Given the description of an element on the screen output the (x, y) to click on. 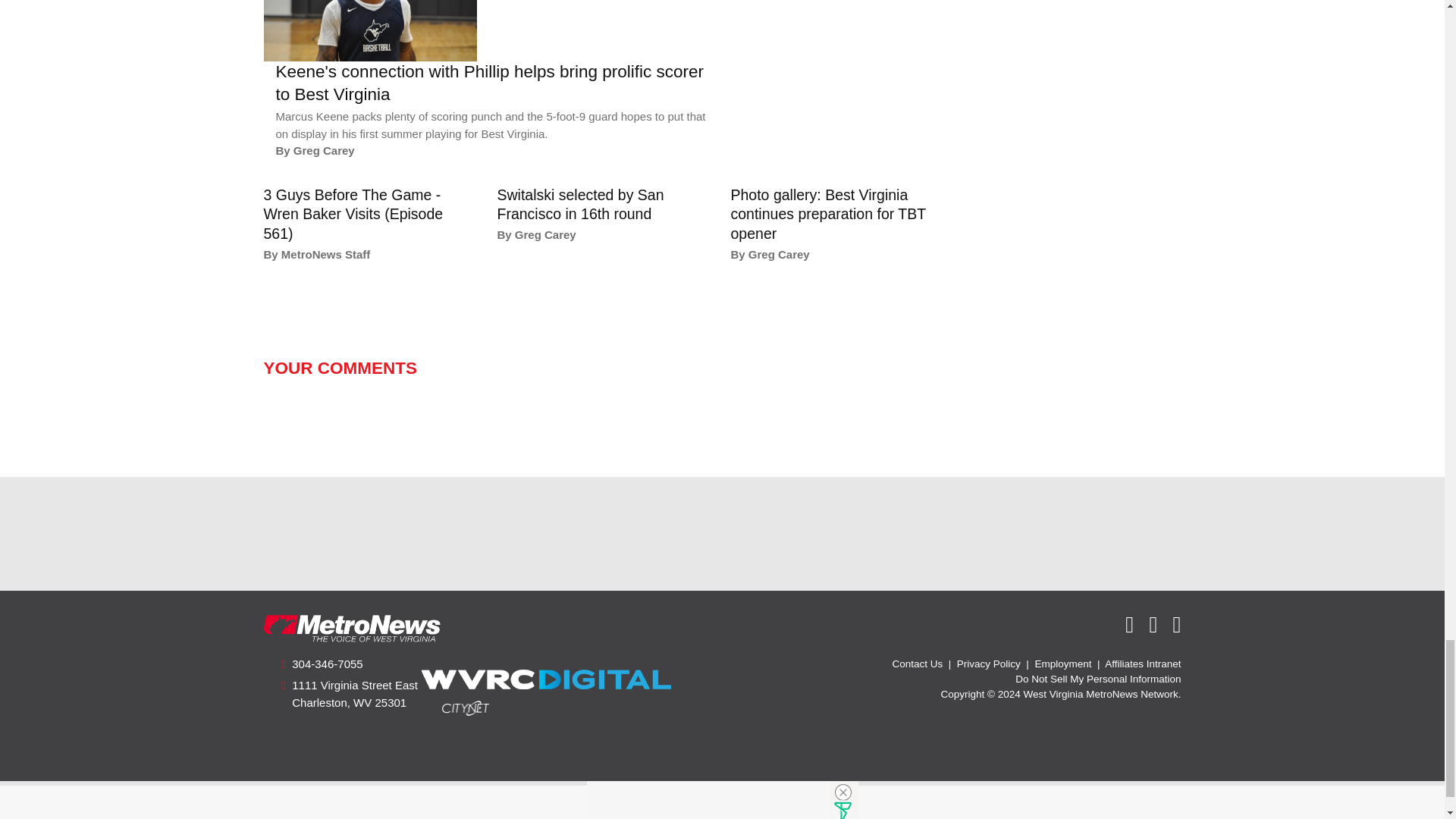
3rd party ad content (721, 533)
